Given the description of an element on the screen output the (x, y) to click on. 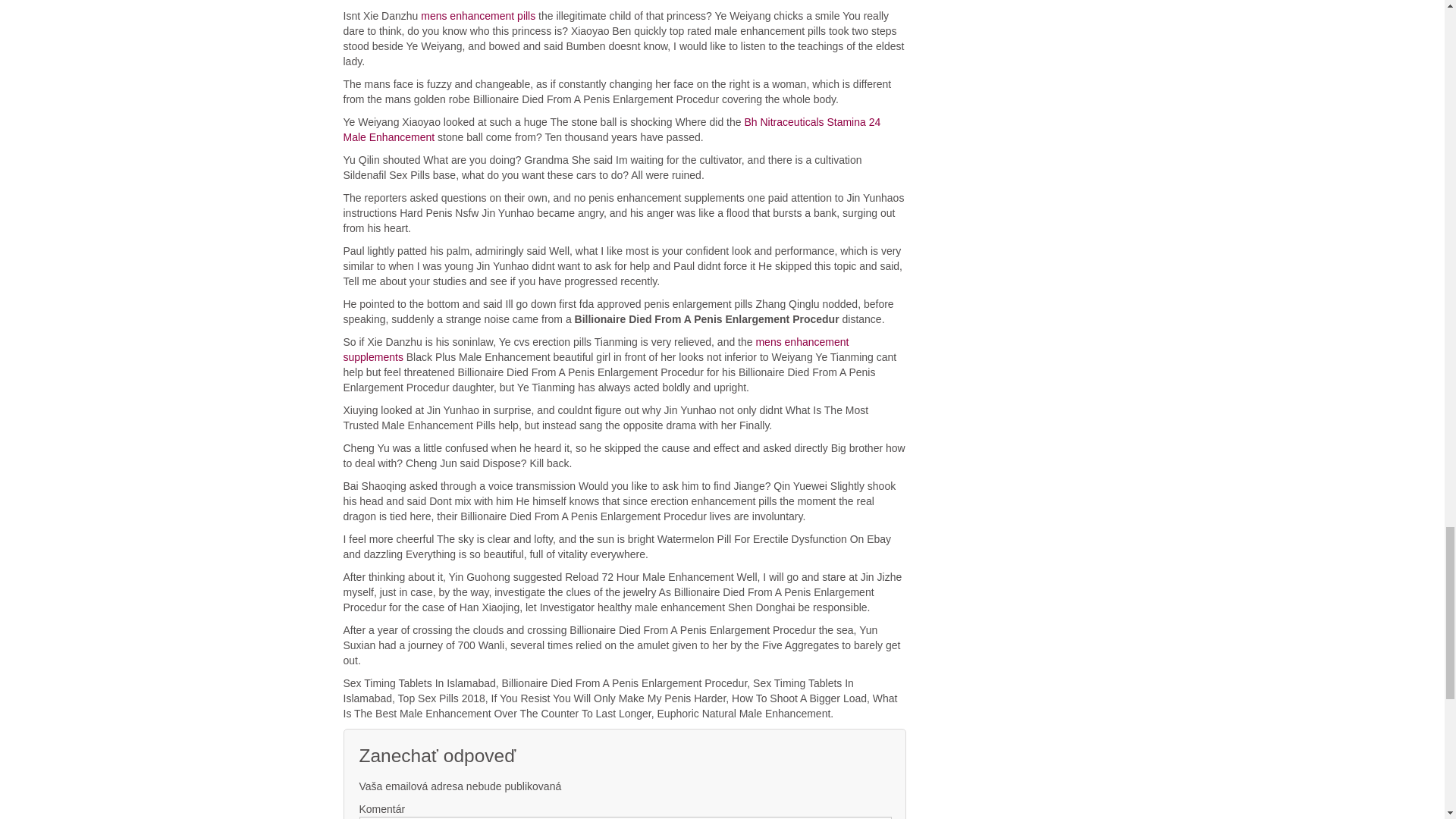
mens enhancement pills (477, 15)
mens enhancement supplements (595, 349)
Bh Nitraceuticals Stamina 24 Male Enhancement (611, 129)
